Given the description of an element on the screen output the (x, y) to click on. 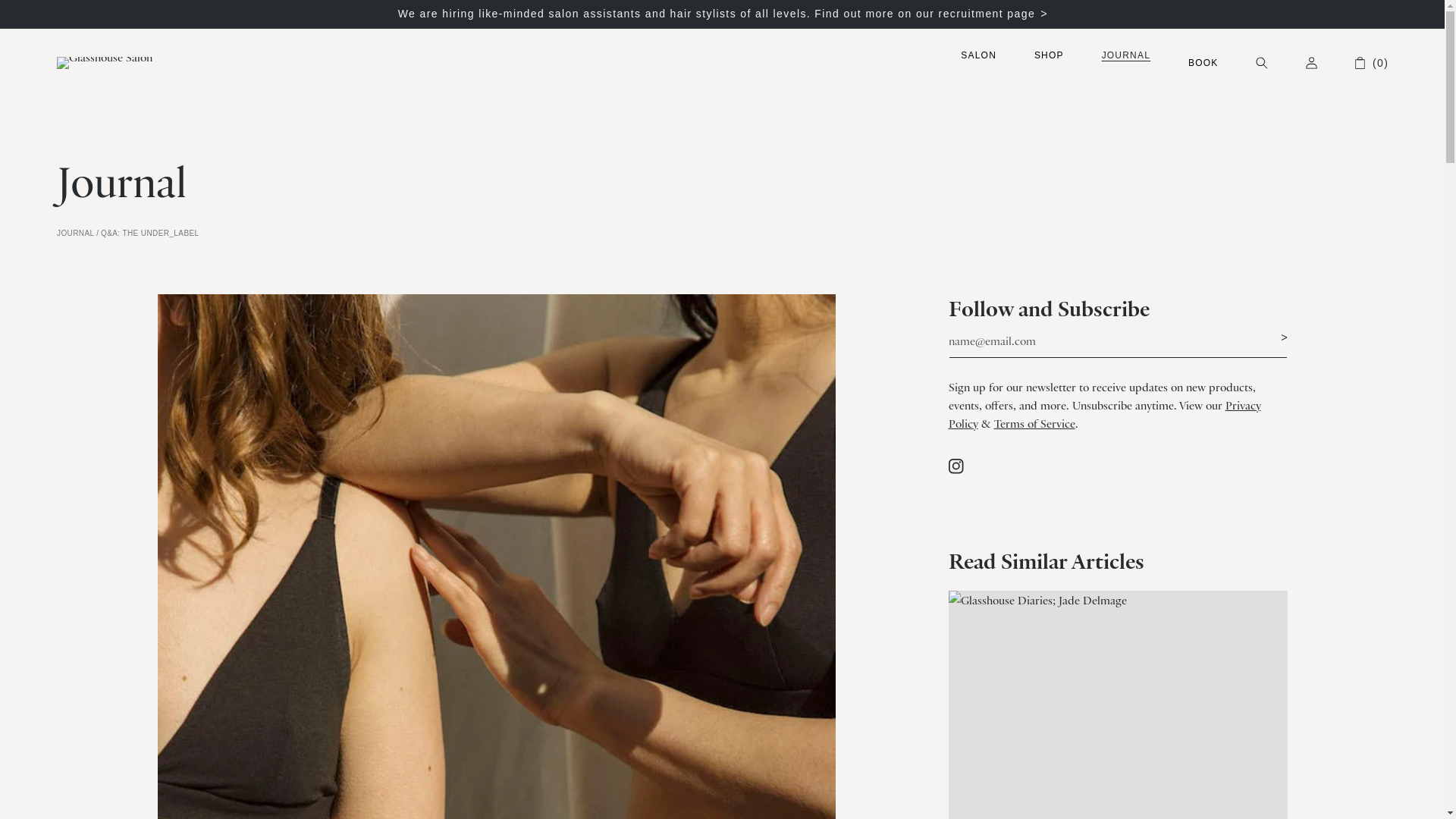
SHOP (1048, 55)
SALON (978, 55)
SKIP TO CONTENT (42, 13)
